Given the description of an element on the screen output the (x, y) to click on. 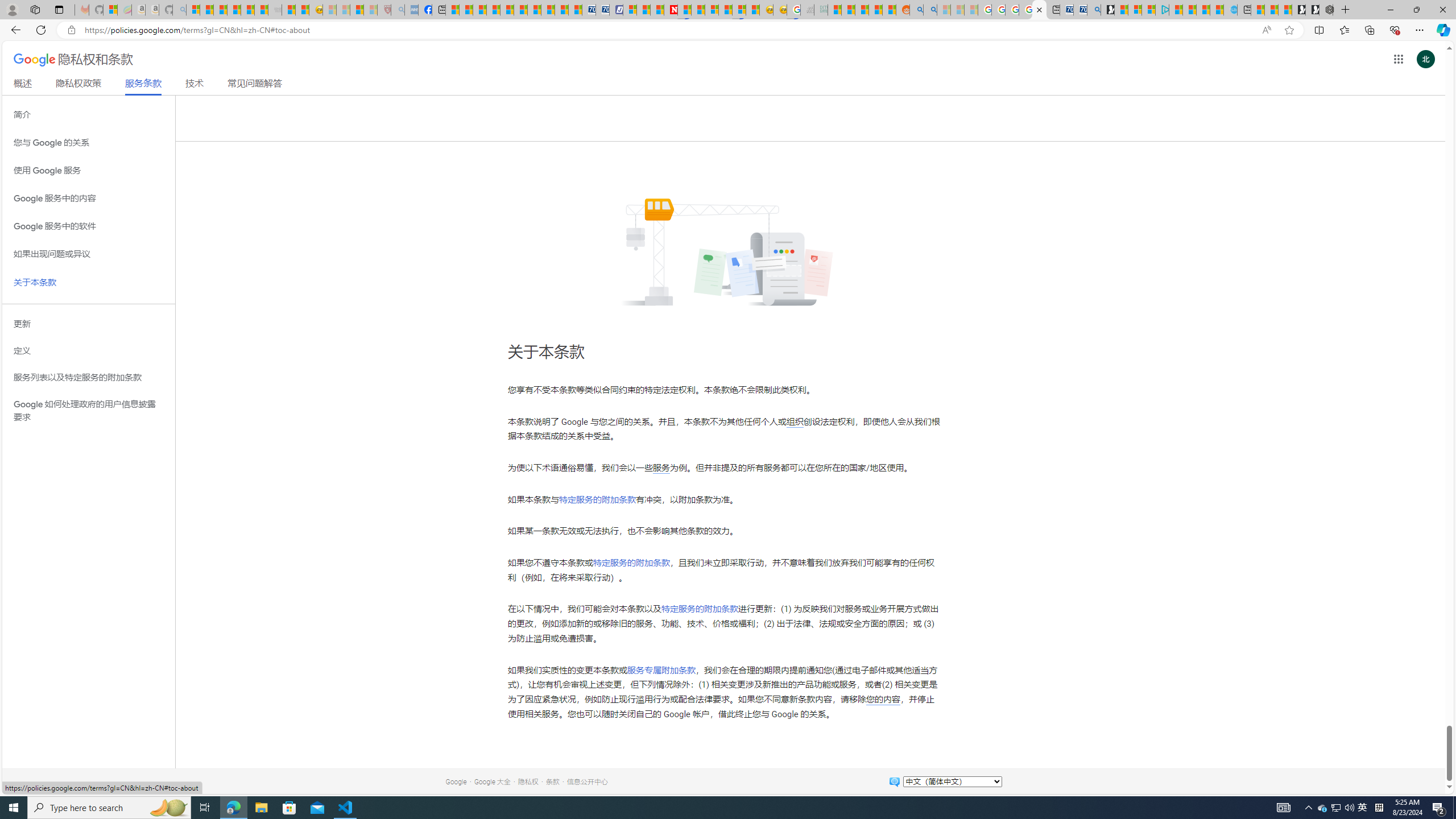
14 Common Myths Debunked By Scientific Facts (697, 9)
World - MSN (479, 9)
Cheap Hotels - Save70.com (602, 9)
Bing Real Estate - Home sales and rental listings (1093, 9)
